Given the description of an element on the screen output the (x, y) to click on. 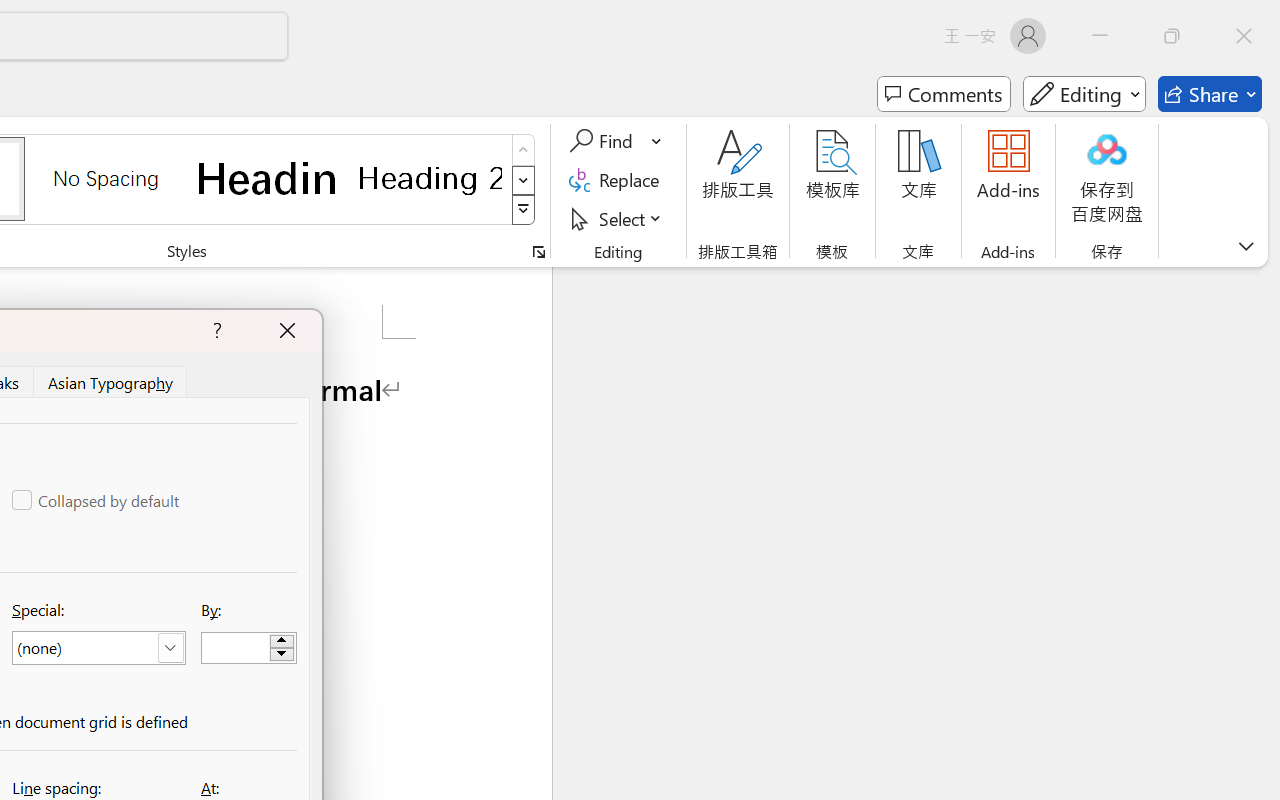
Row up (523, 150)
Select (618, 218)
Collapsed by default (97, 500)
Heading 1 (267, 178)
Replace... (617, 179)
Mode (1083, 94)
